Given the description of an element on the screen output the (x, y) to click on. 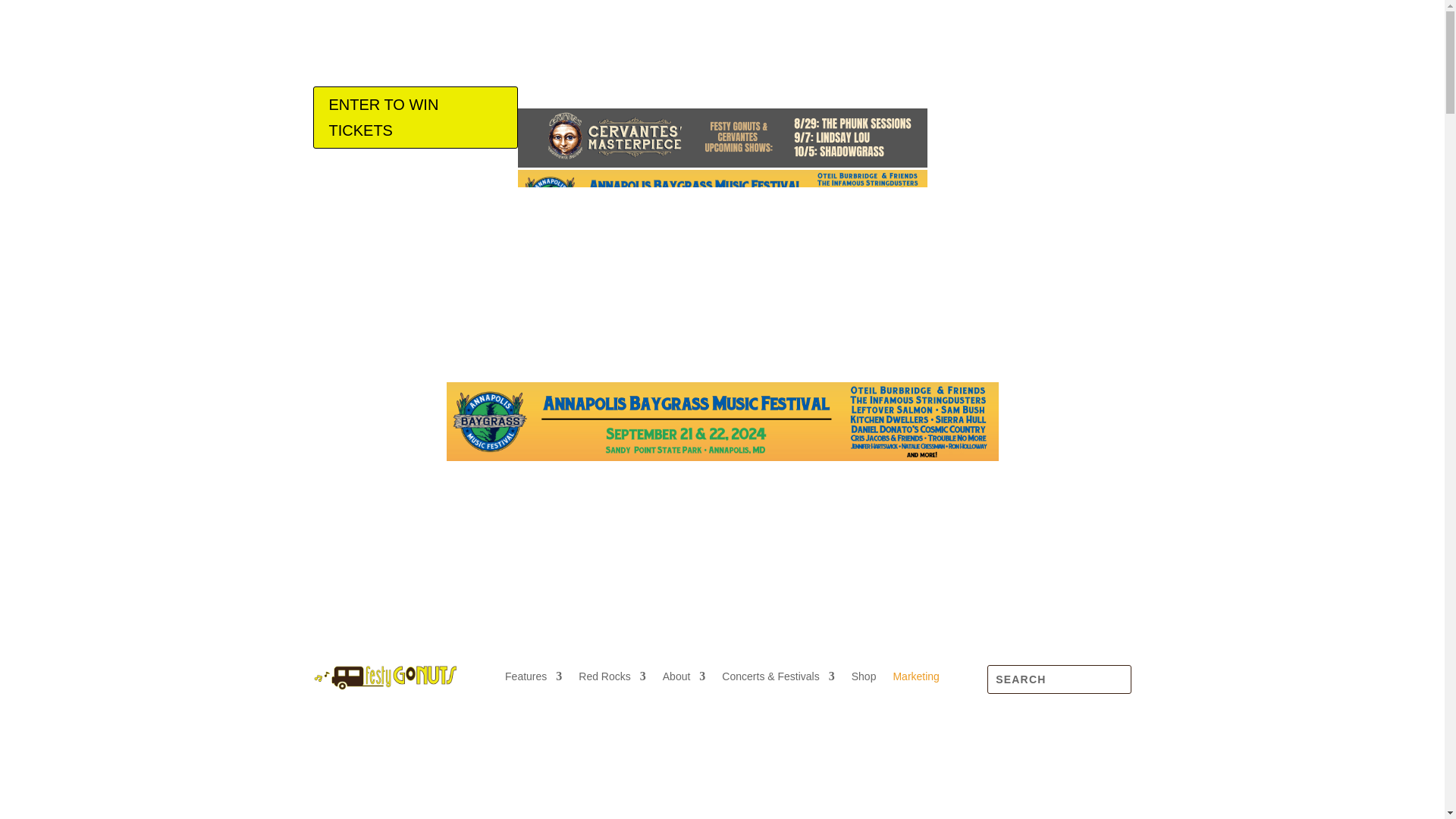
Follow on Facebook (1028, 98)
Follow on Spotify (1088, 473)
Follow on Instagram (1058, 473)
Red Rocks (611, 678)
Follow on Spotify (1088, 98)
Follow on Facebook (1028, 473)
About (684, 678)
Follow on Youtube (1118, 473)
Follow on Youtube (1118, 98)
Festy GoNuts (385, 677)
ENTER TO WIN TICKETS (414, 117)
Follow on Instagram (1058, 98)
Features (533, 678)
